Given the description of an element on the screen output the (x, y) to click on. 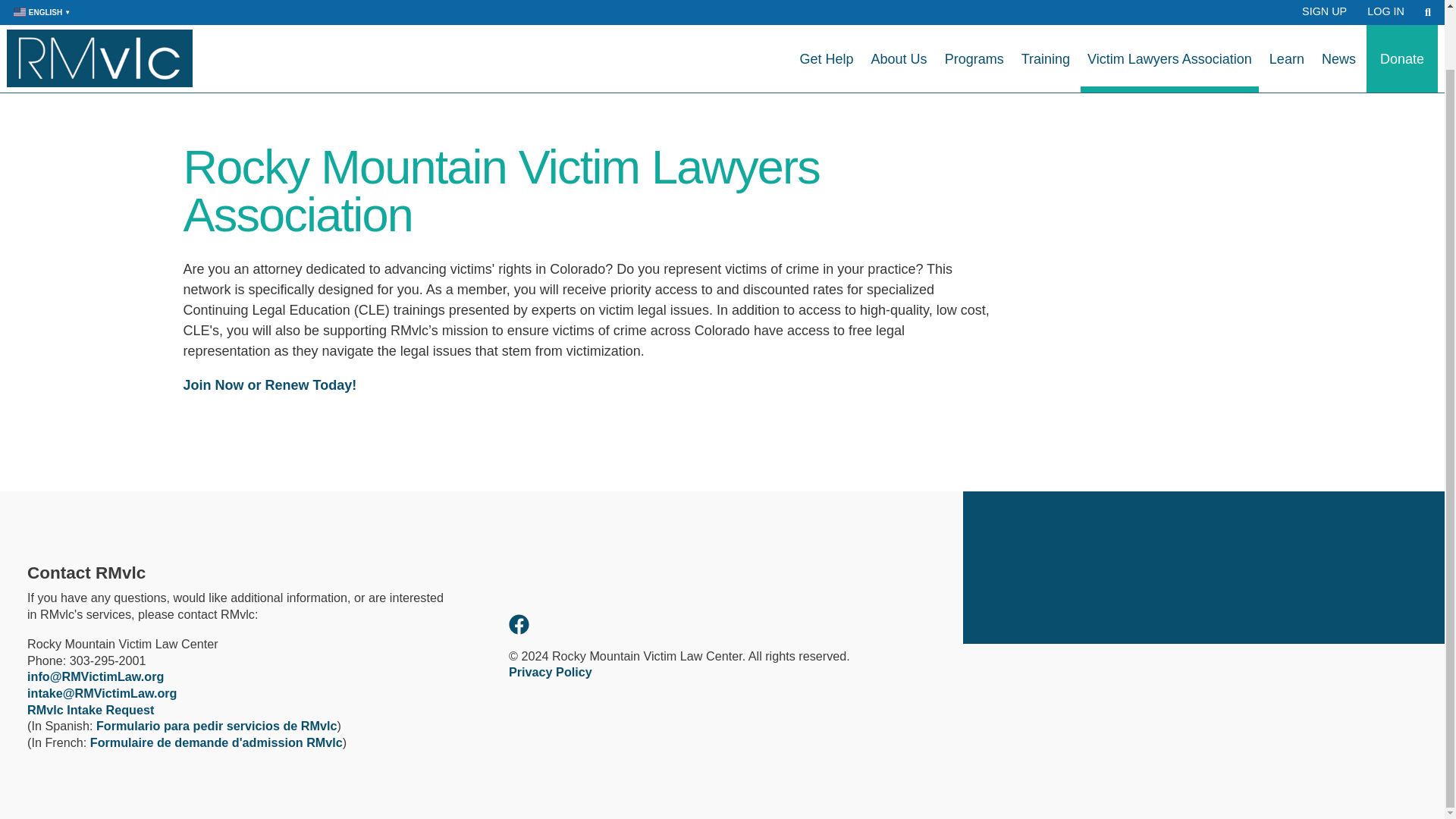
Home (99, 11)
Privacy Policy  (550, 671)
